Given the description of an element on the screen output the (x, y) to click on. 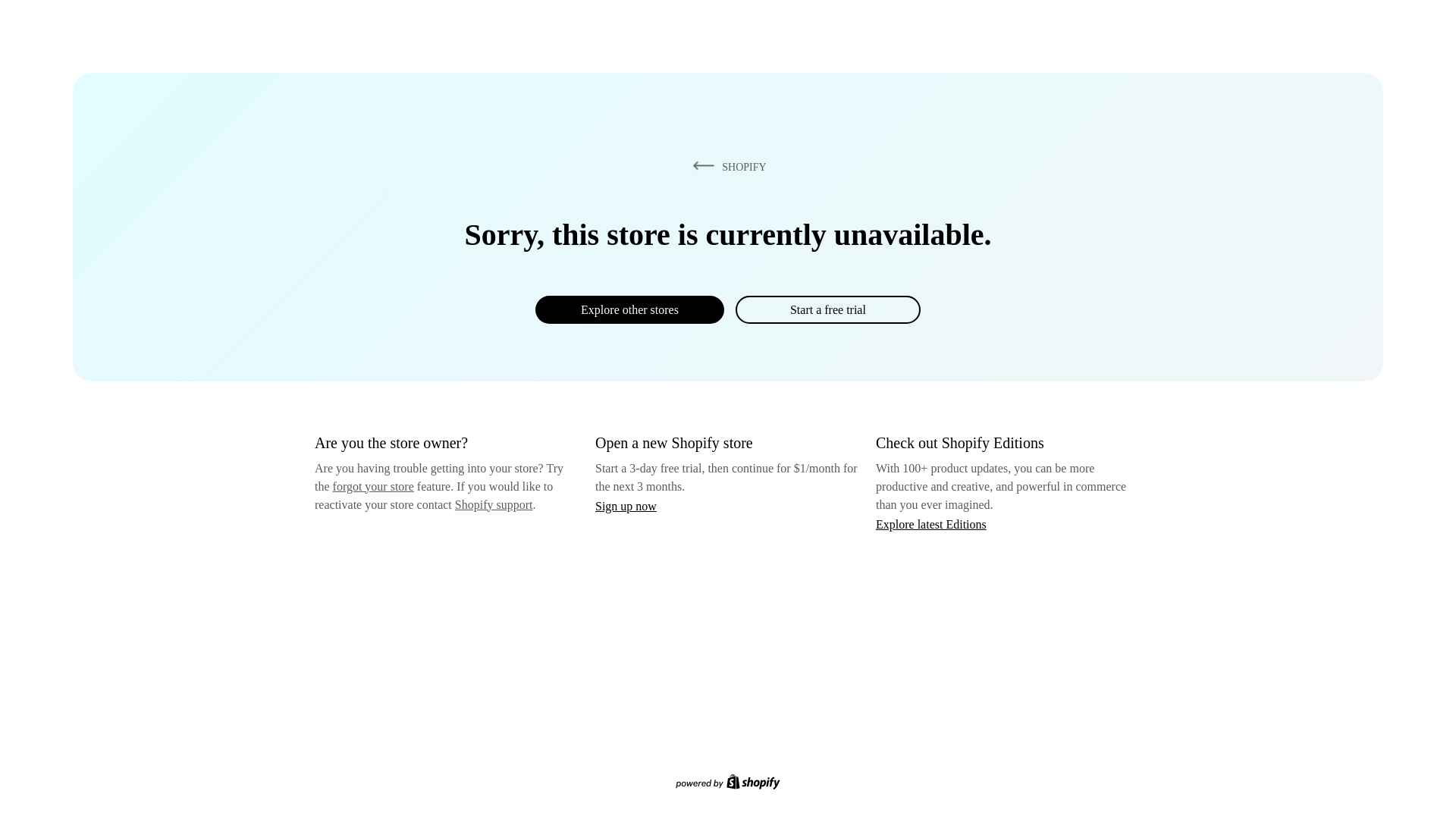
forgot your store (373, 486)
SHOPIFY (726, 166)
Sign up now (625, 505)
Explore other stores (629, 309)
Shopify support (493, 504)
Explore latest Editions (931, 523)
Start a free trial (827, 309)
